Given the description of an element on the screen output the (x, y) to click on. 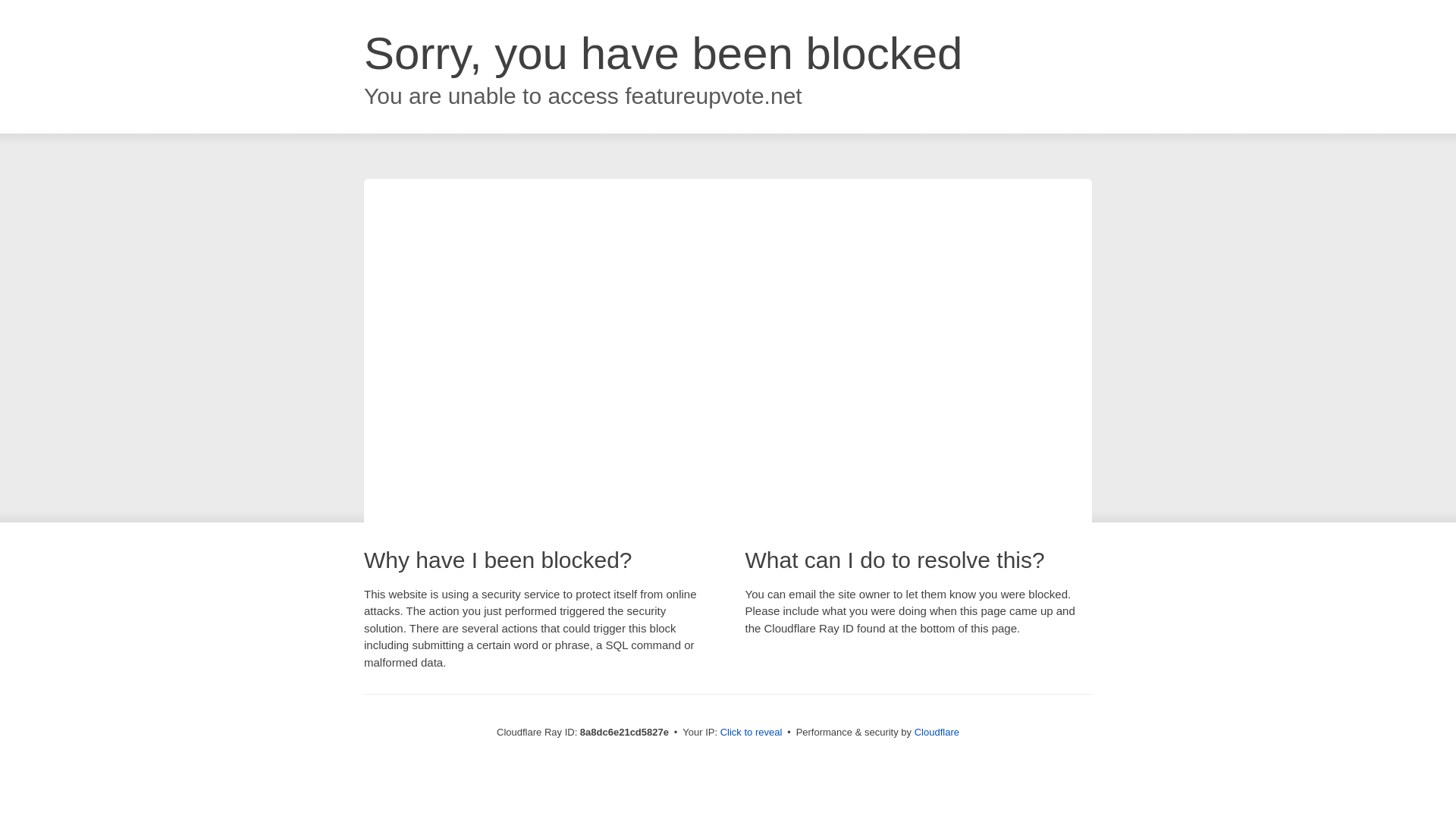
Cloudflare (936, 731)
Click to reveal (751, 732)
